Given the description of an element on the screen output the (x, y) to click on. 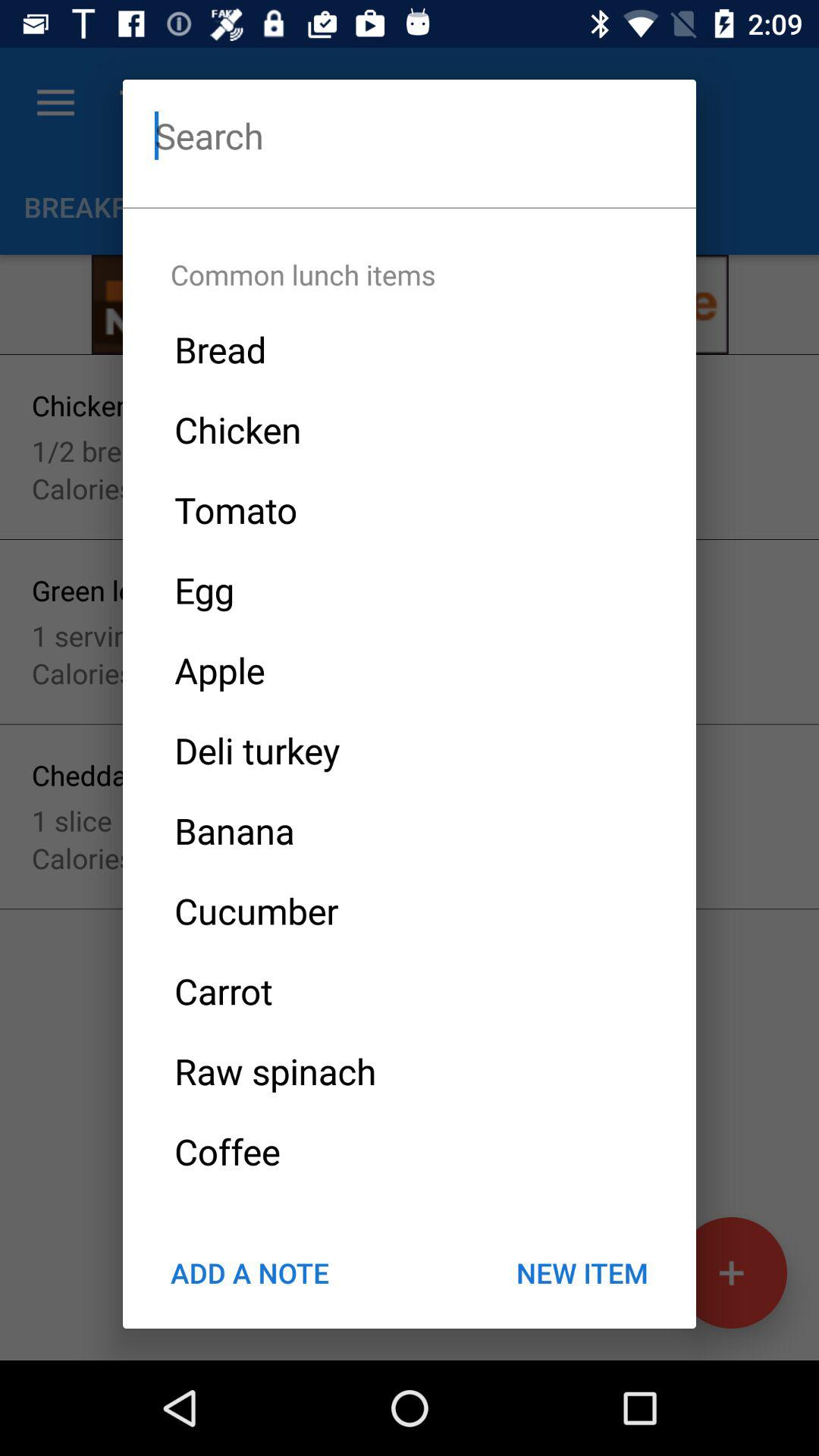
turn off icon at the bottom left corner (249, 1272)
